Given the description of an element on the screen output the (x, y) to click on. 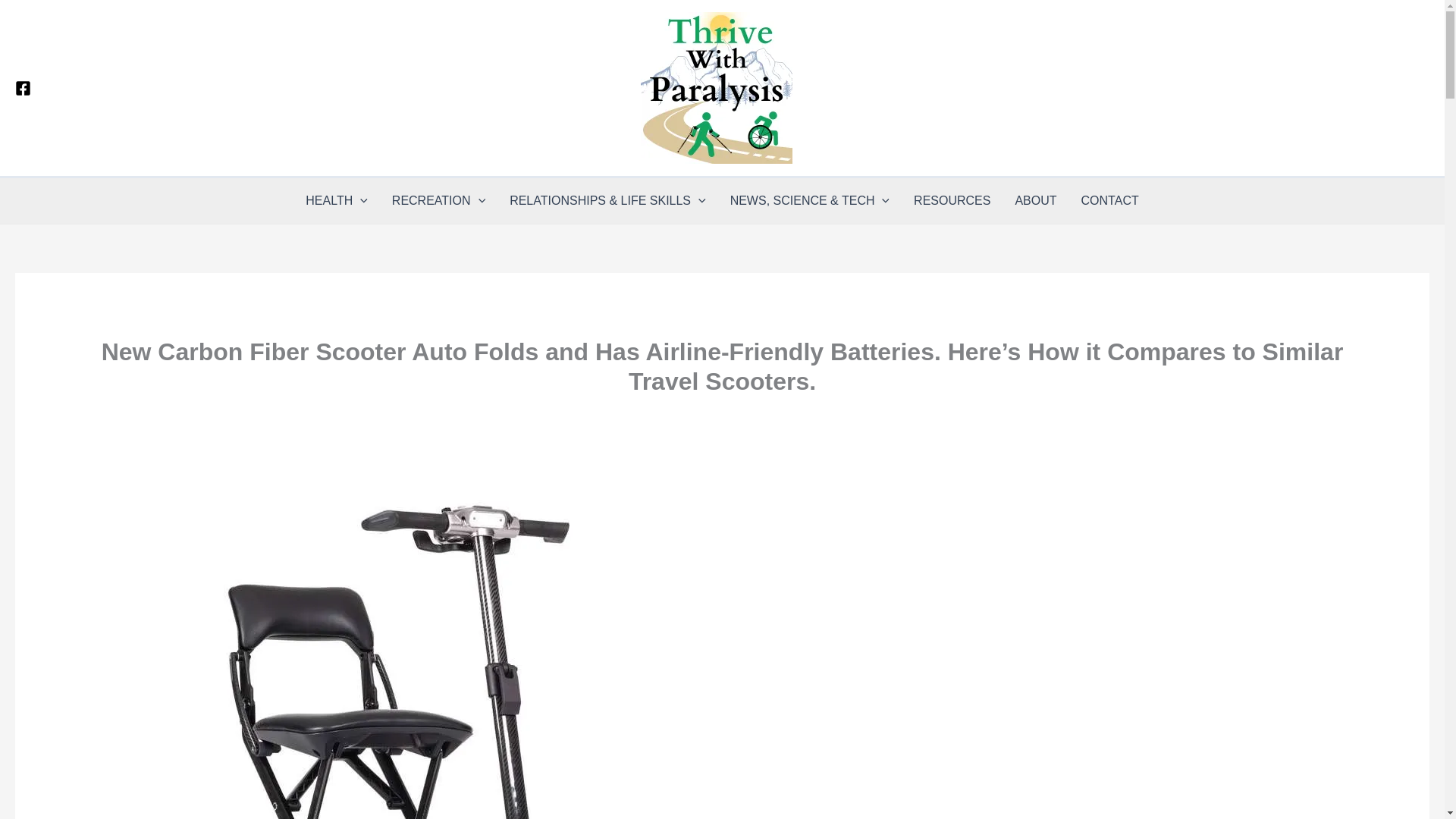
RECREATION (438, 200)
RESOURCES (952, 200)
ABOUT (1035, 200)
HEALTH (337, 200)
CONTACT (1109, 200)
